Given the description of an element on the screen output the (x, y) to click on. 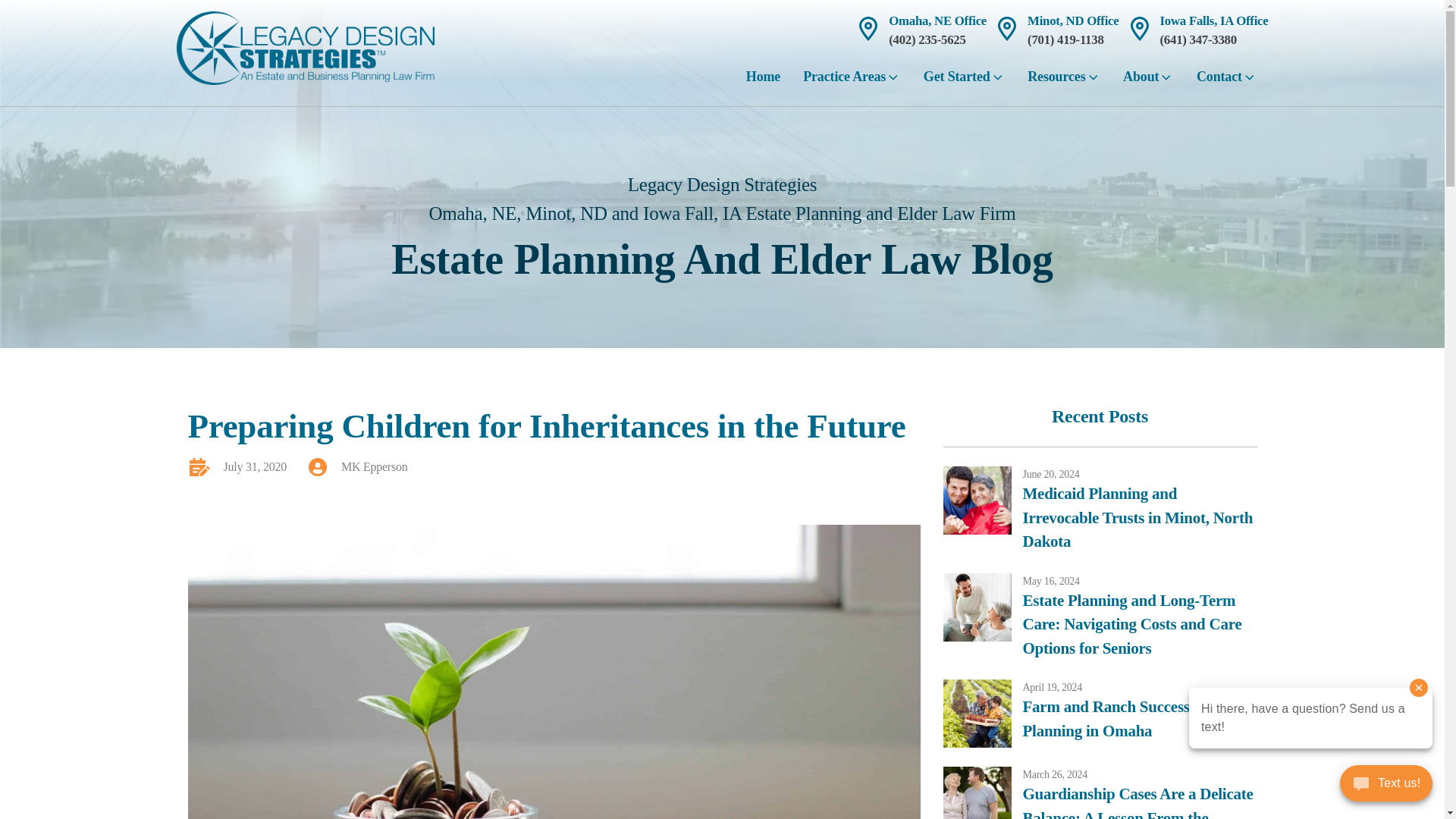
Practice Areas (852, 82)
Iowa Falls, IA Office (1214, 20)
About (1148, 82)
Omaha, NE Office (937, 20)
Farm and Ranch Succession Planning in Omaha (1139, 718)
Resources (1064, 82)
Minot, ND Office (1072, 20)
Get Started (964, 82)
Home (763, 82)
